Given the description of an element on the screen output the (x, y) to click on. 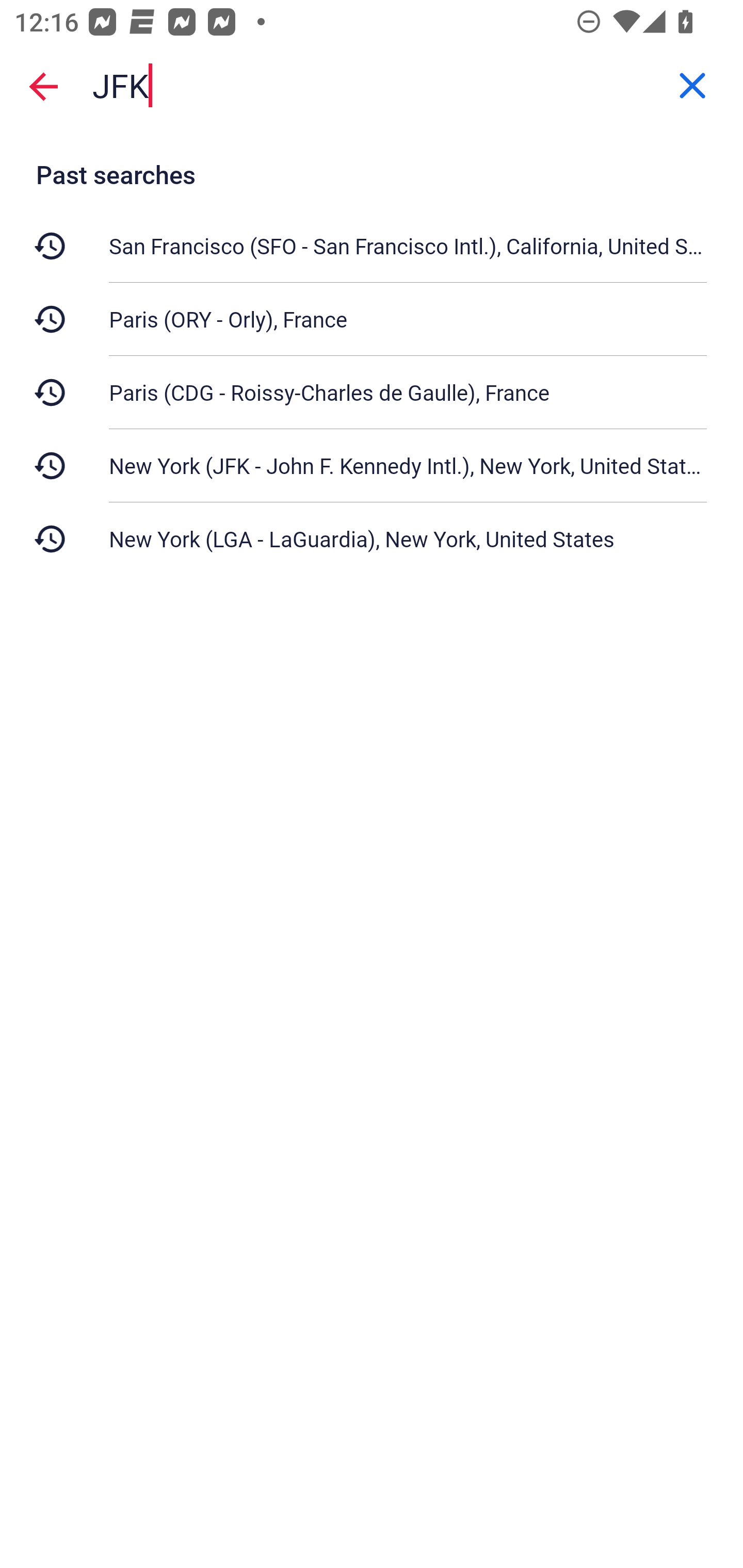
Clear Pick-up (692, 85)
Pick-up, JFK (371, 85)
Close search screen (43, 86)
